Given the description of an element on the screen output the (x, y) to click on. 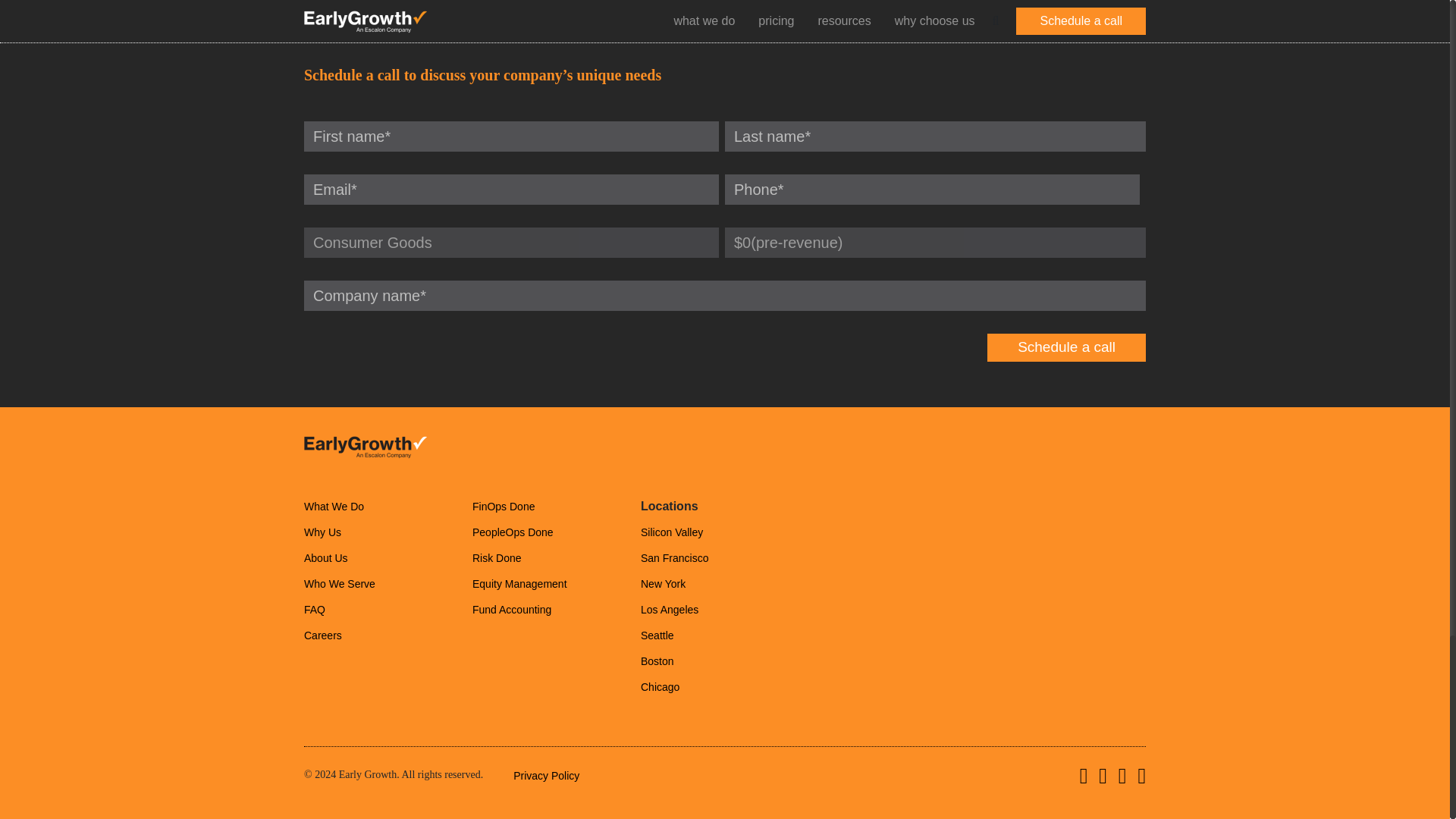
Schedule a call (1066, 347)
footer-logo (365, 446)
